Given the description of an element on the screen output the (x, y) to click on. 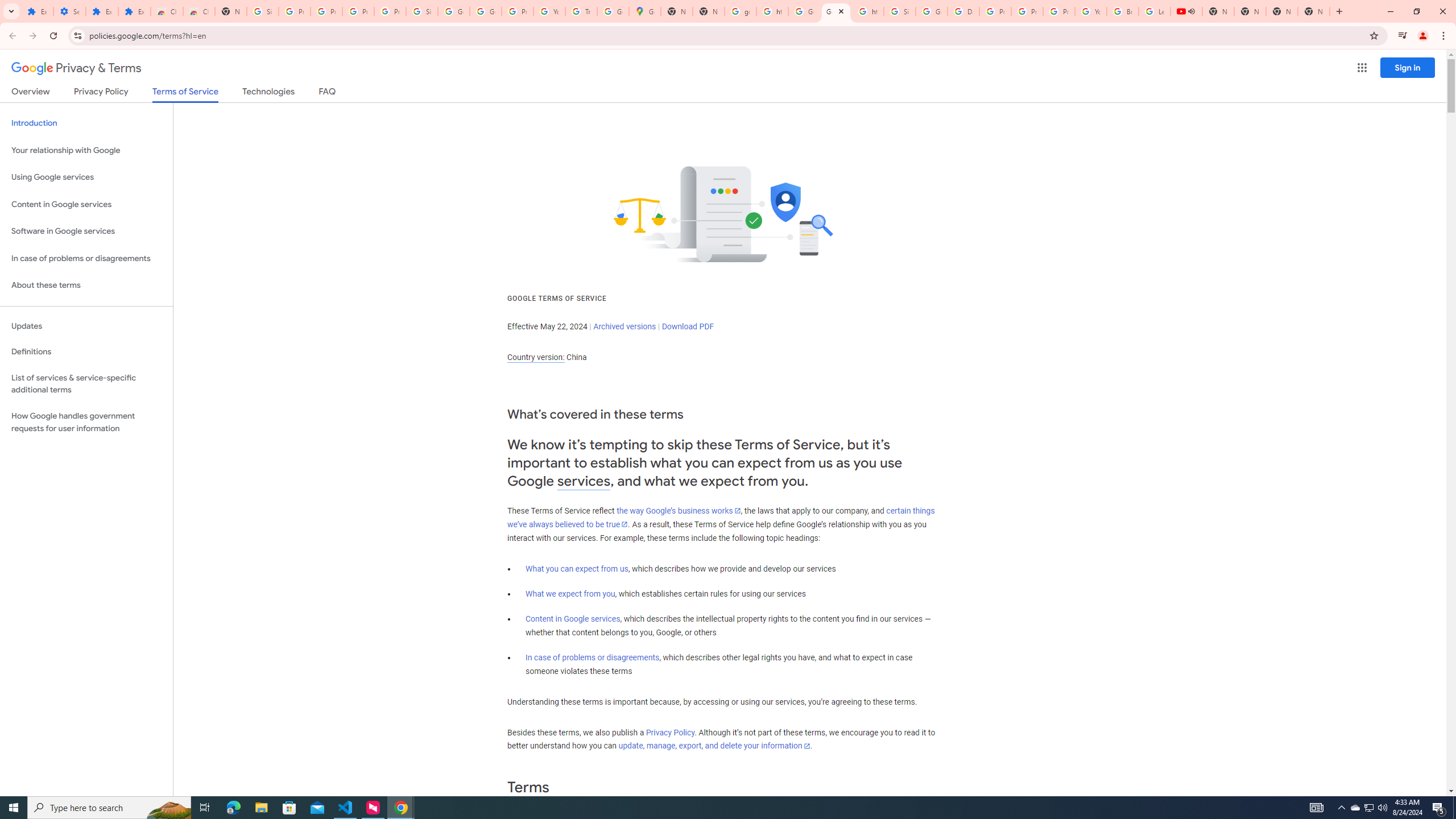
What you can expect from us (576, 568)
